Given the description of an element on the screen output the (x, y) to click on. 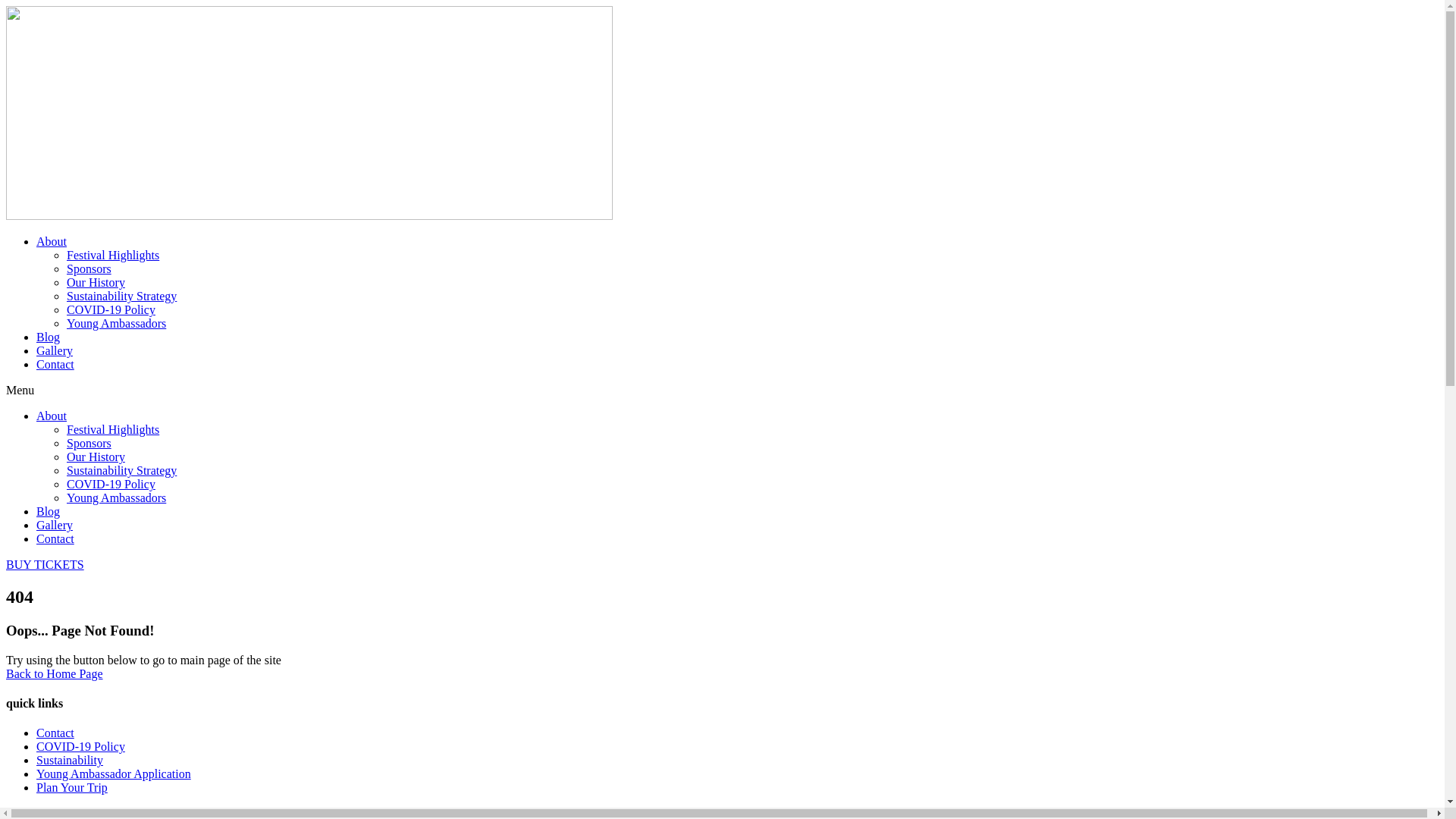
Blog Element type: text (47, 336)
Sponsors Element type: text (88, 268)
Young Ambassador Application Element type: text (113, 773)
Festival Highlights Element type: text (112, 429)
Young Ambassadors Element type: text (116, 322)
Contact Element type: text (55, 538)
Contact Element type: text (55, 732)
Gallery Element type: text (54, 524)
Back to Home Page Element type: text (54, 673)
COVID-19 Policy Element type: text (110, 309)
Our History Element type: text (95, 282)
Sustainability Strategy Element type: text (121, 470)
Sustainability Strategy Element type: text (121, 295)
Contact Element type: text (55, 363)
Festival Highlights Element type: text (112, 254)
Plan Your Trip Element type: text (71, 787)
Sponsors Element type: text (88, 442)
About Element type: text (51, 415)
BUY TICKETS Element type: text (45, 564)
Sustainability Element type: text (69, 759)
COVID-19 Policy Element type: text (110, 483)
Our History Element type: text (95, 456)
COVID-19 Policy Element type: text (80, 746)
Blog Element type: text (47, 511)
About Element type: text (51, 241)
Young Ambassadors Element type: text (116, 497)
Gallery Element type: text (54, 350)
